Given the description of an element on the screen output the (x, y) to click on. 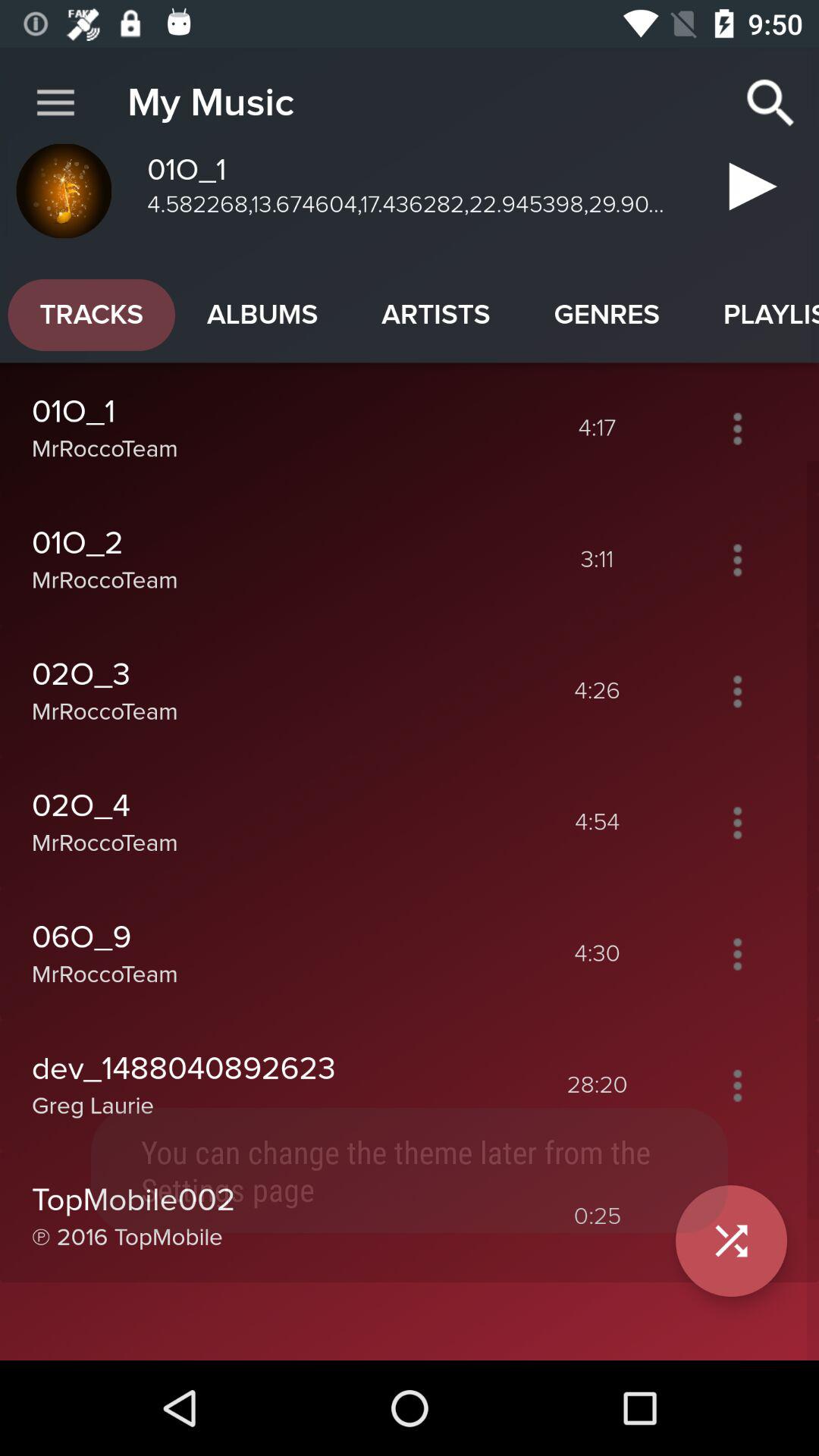
play the current song (747, 192)
